Given the description of an element on the screen output the (x, y) to click on. 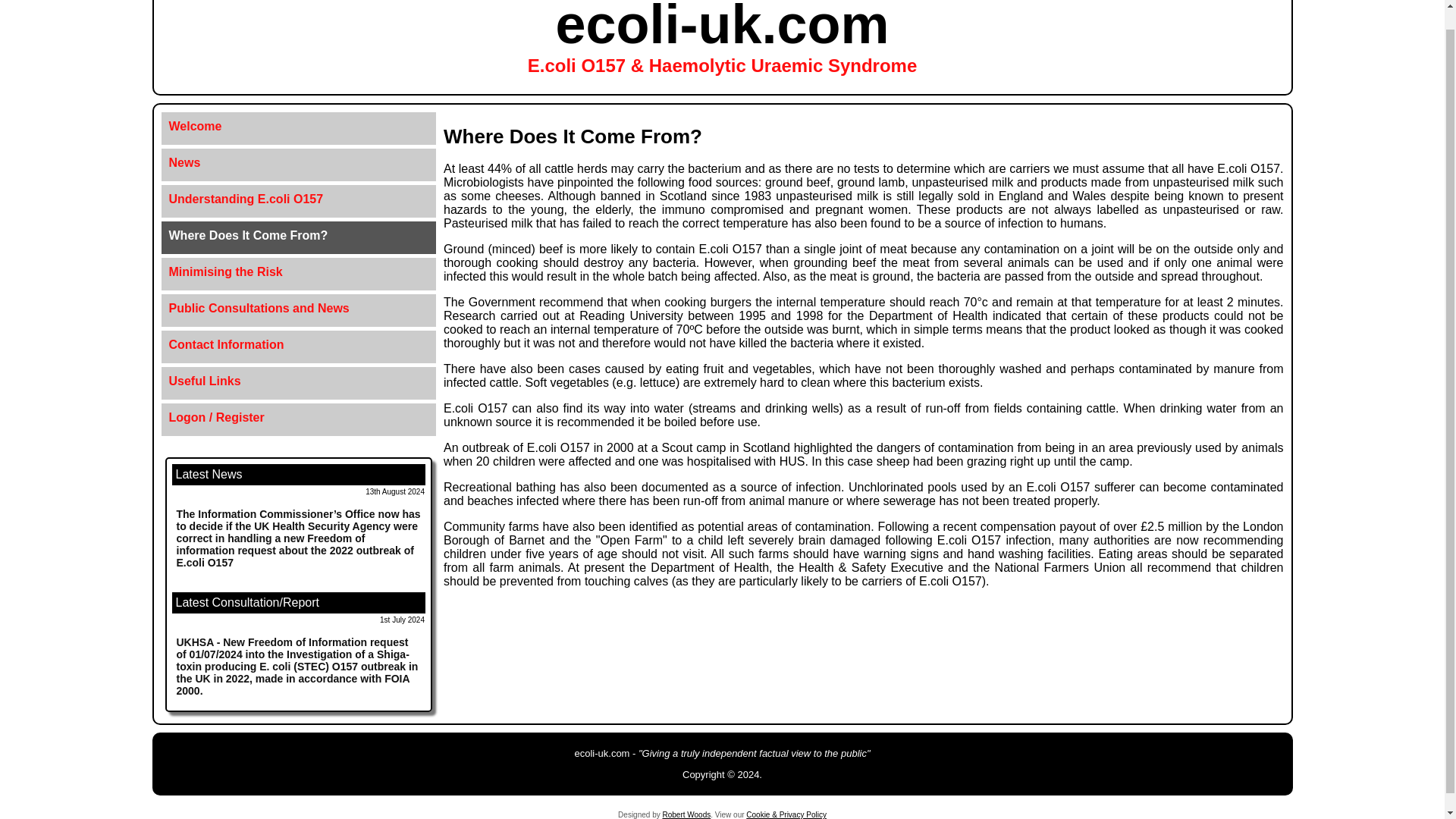
Public Consultations and News (298, 308)
Contact Information (298, 344)
Understanding E.coli O157 (298, 199)
Welcome (298, 126)
Minimising the Risk (298, 271)
Useful Links (298, 381)
News (298, 162)
Where Does It Come From? (298, 235)
